Given the description of an element on the screen output the (x, y) to click on. 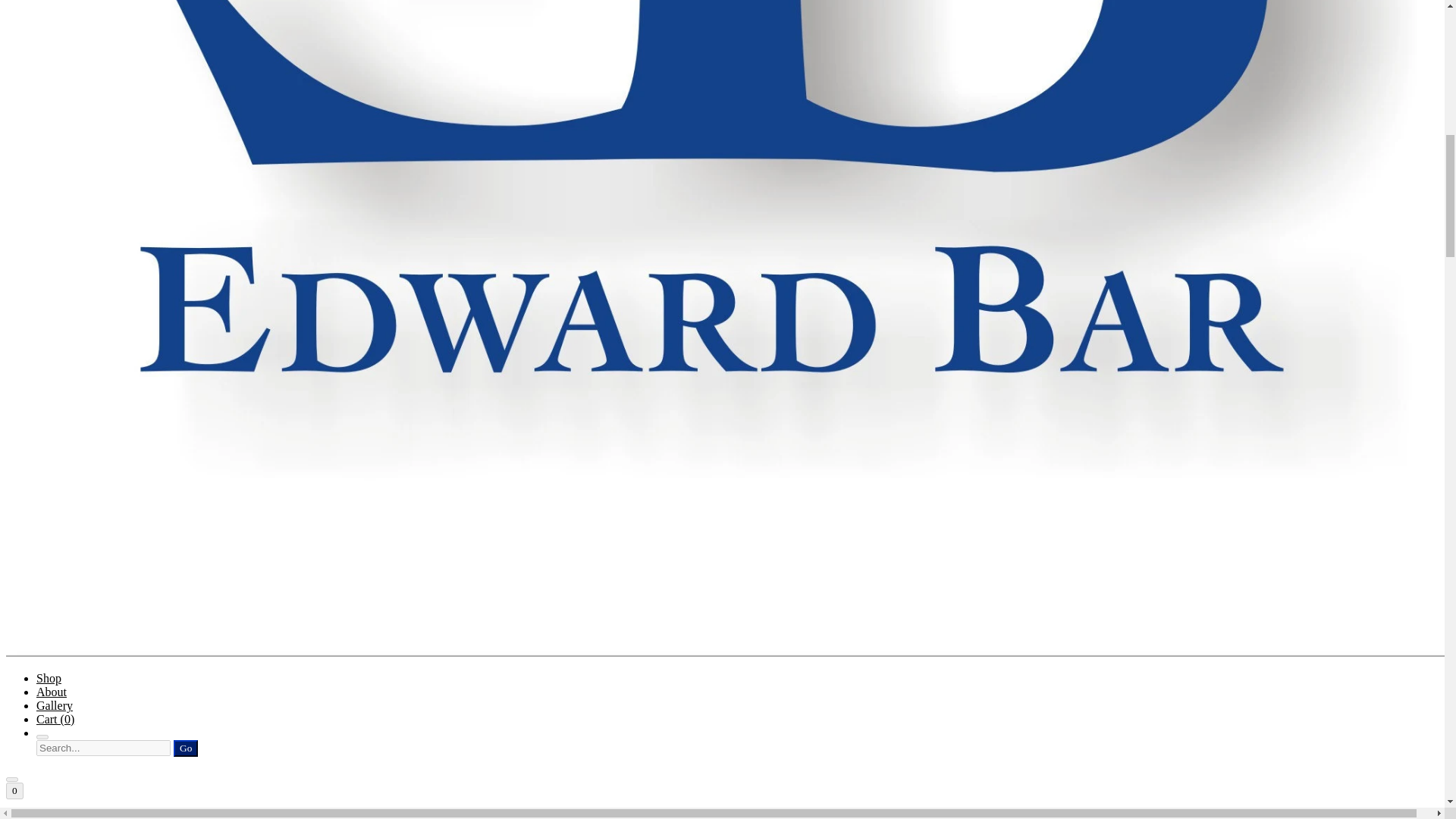
Gallery (54, 705)
About (51, 691)
0 (14, 790)
Shop (48, 677)
Go (185, 748)
Go (185, 748)
